Given the description of an element on the screen output the (x, y) to click on. 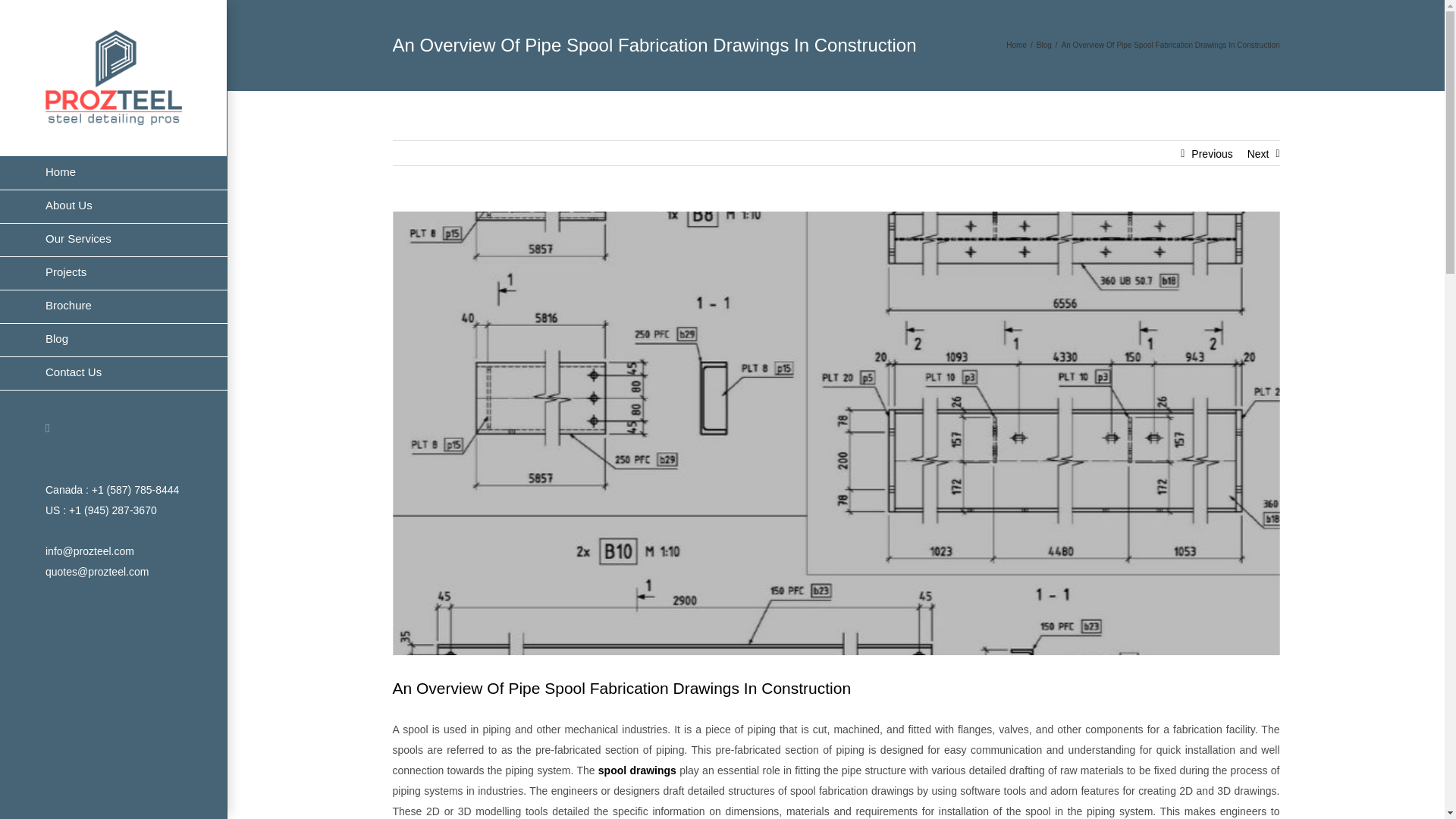
About Us (113, 206)
Contact Us (113, 373)
Our Services (113, 240)
Home (1016, 44)
Blog (1043, 44)
Projects (113, 273)
spool drawings (637, 770)
Blog (113, 340)
Previous (1211, 153)
